Given the description of an element on the screen output the (x, y) to click on. 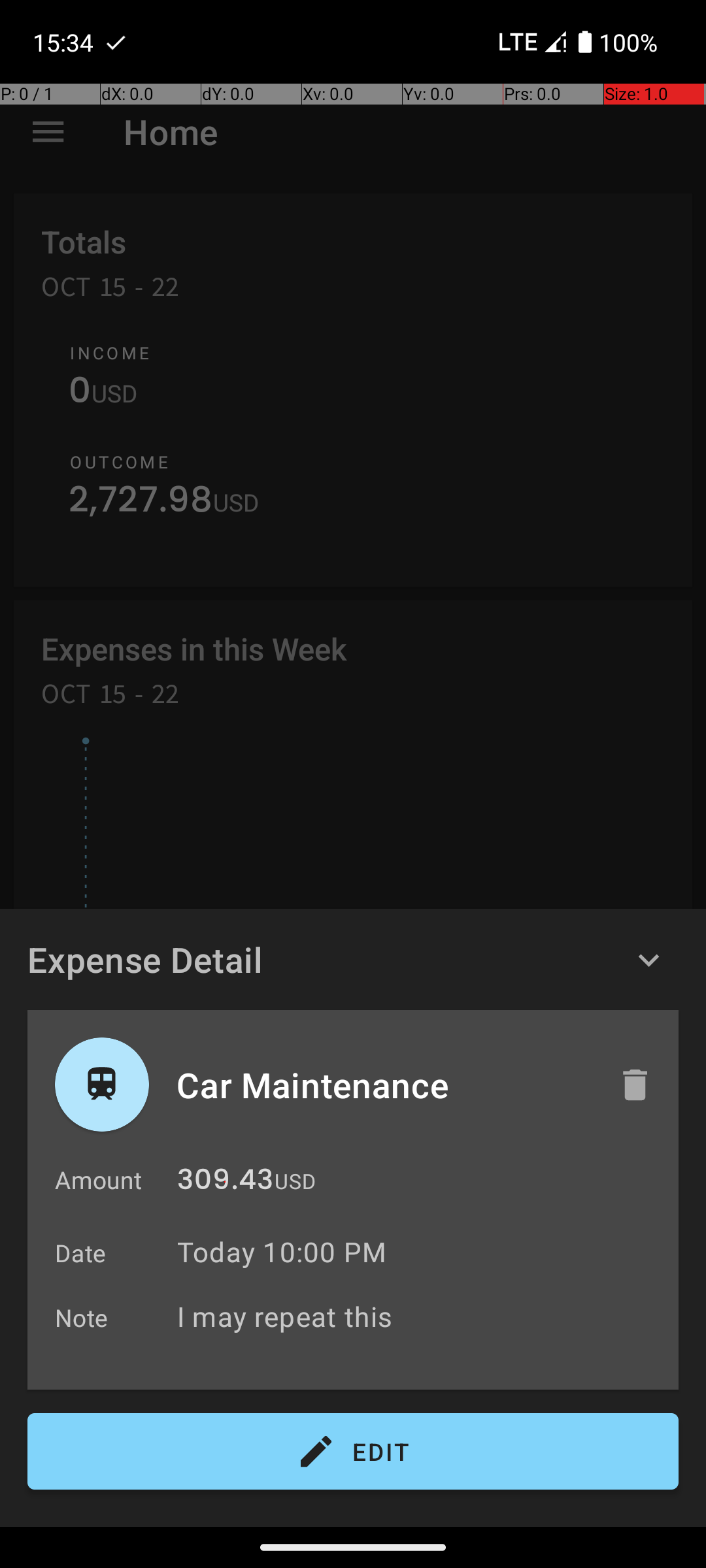
Car Maintenance Element type: android.widget.TextView (383, 1084)
309.43 Element type: android.widget.TextView (224, 1182)
Today 10:00 PM Element type: android.widget.TextView (281, 1251)
